Given the description of an element on the screen output the (x, y) to click on. 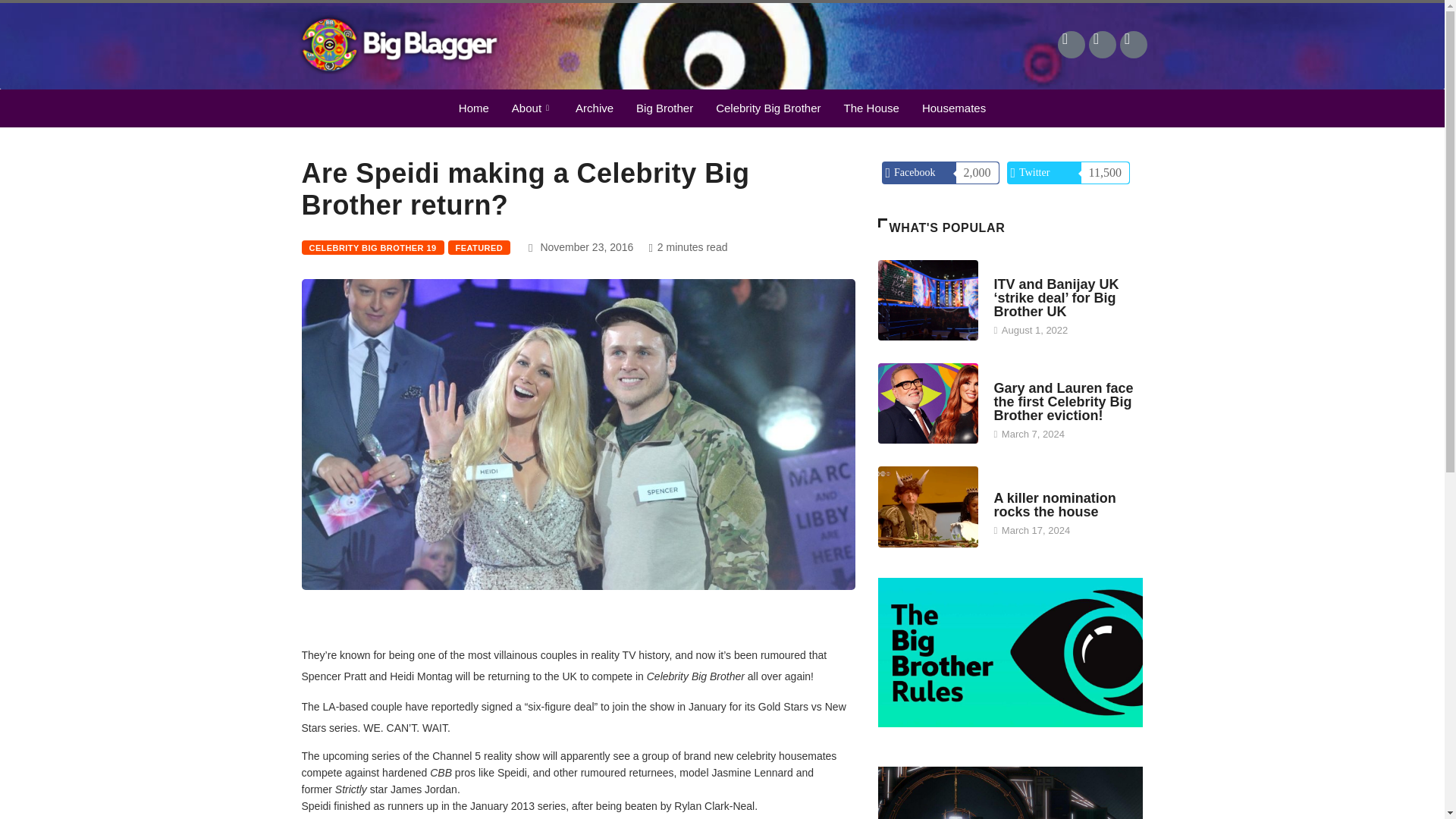
The House (871, 108)
Celebrity Big Brother (767, 108)
Housemates (954, 108)
About (532, 108)
Home (473, 108)
A killer nomination rocks the house (927, 506)
Archive (594, 108)
A killer nomination rocks the house (1053, 504)
CELEBRITY BIG BROTHER 19 (372, 247)
Big Brother (664, 108)
